Given the description of an element on the screen output the (x, y) to click on. 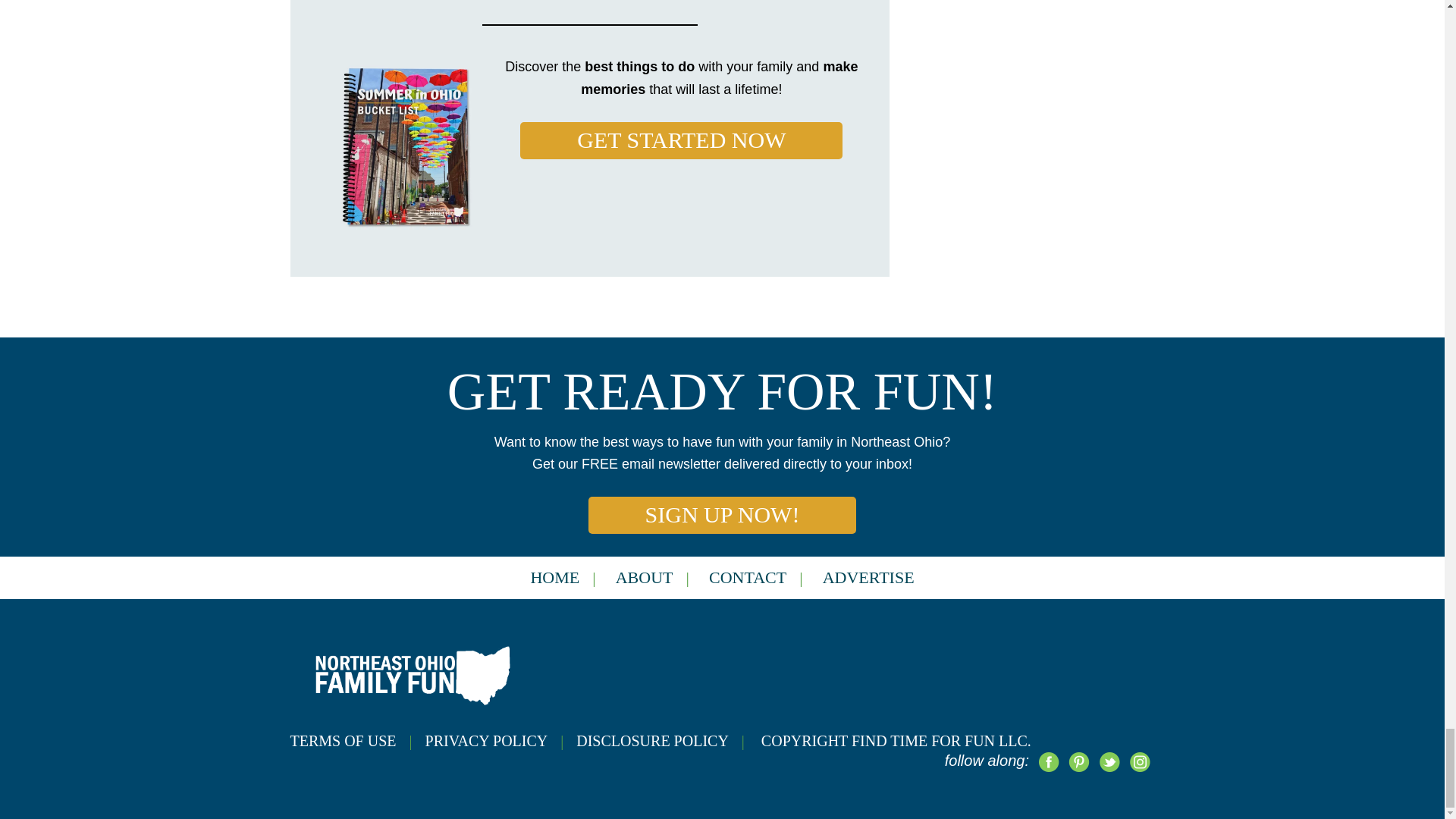
Instagram (1139, 760)
Twitter (1108, 760)
Pinterest (1077, 760)
Disclosure Policy (666, 740)
Privacy Policy (500, 740)
Terms of Use (357, 740)
Facebook (1047, 760)
